Given the description of an element on the screen output the (x, y) to click on. 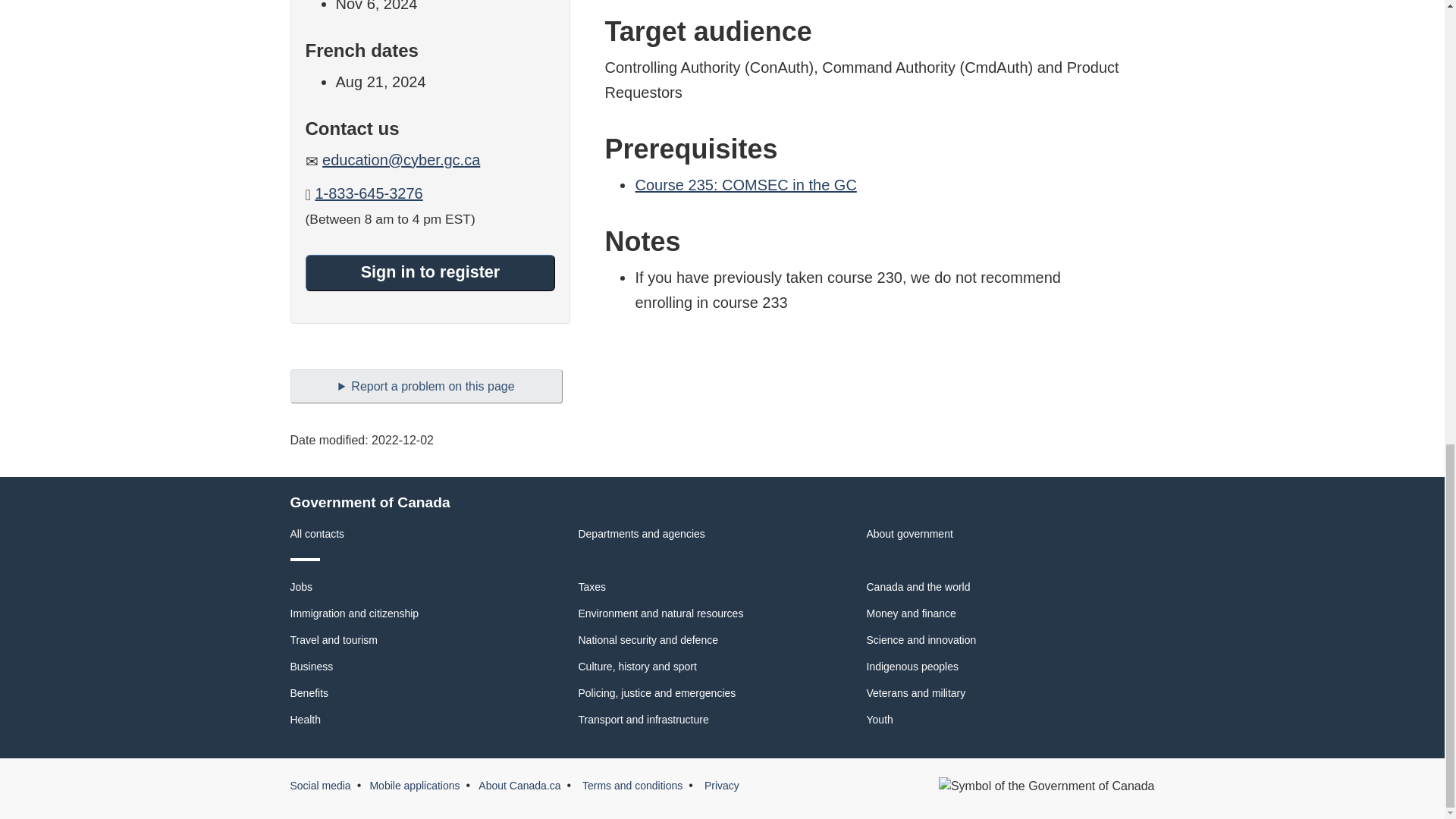
All contacts (316, 533)
Departments and agencies (641, 533)
Immigration and citizenship (354, 613)
1-833-645-3276 (368, 193)
About government (909, 533)
Course 235: COMSEC in the GC (745, 184)
Sign in to register (429, 272)
Jobs (301, 586)
